Given the description of an element on the screen output the (x, y) to click on. 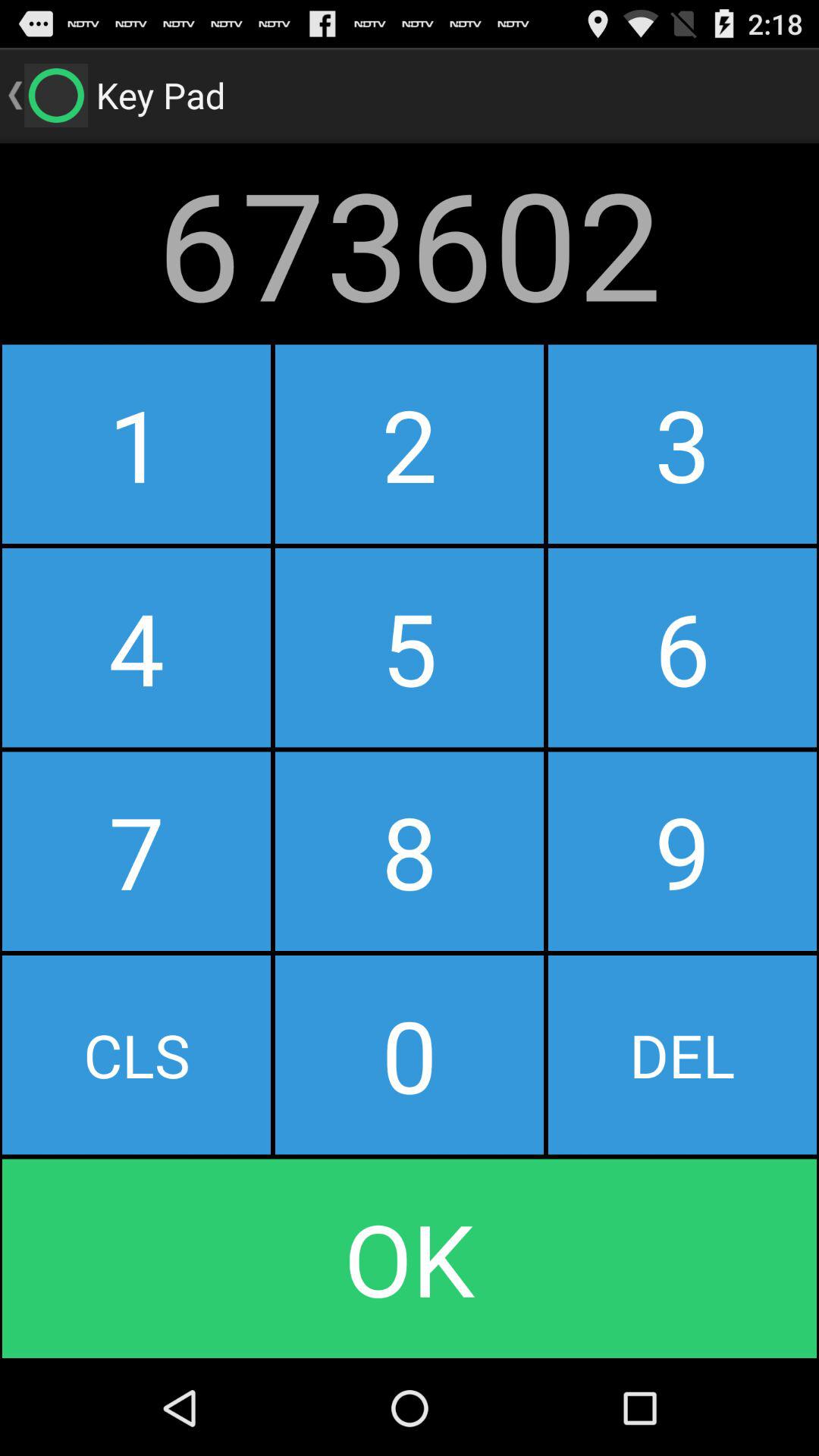
press icon below the 1 (136, 647)
